Given the description of an element on the screen output the (x, y) to click on. 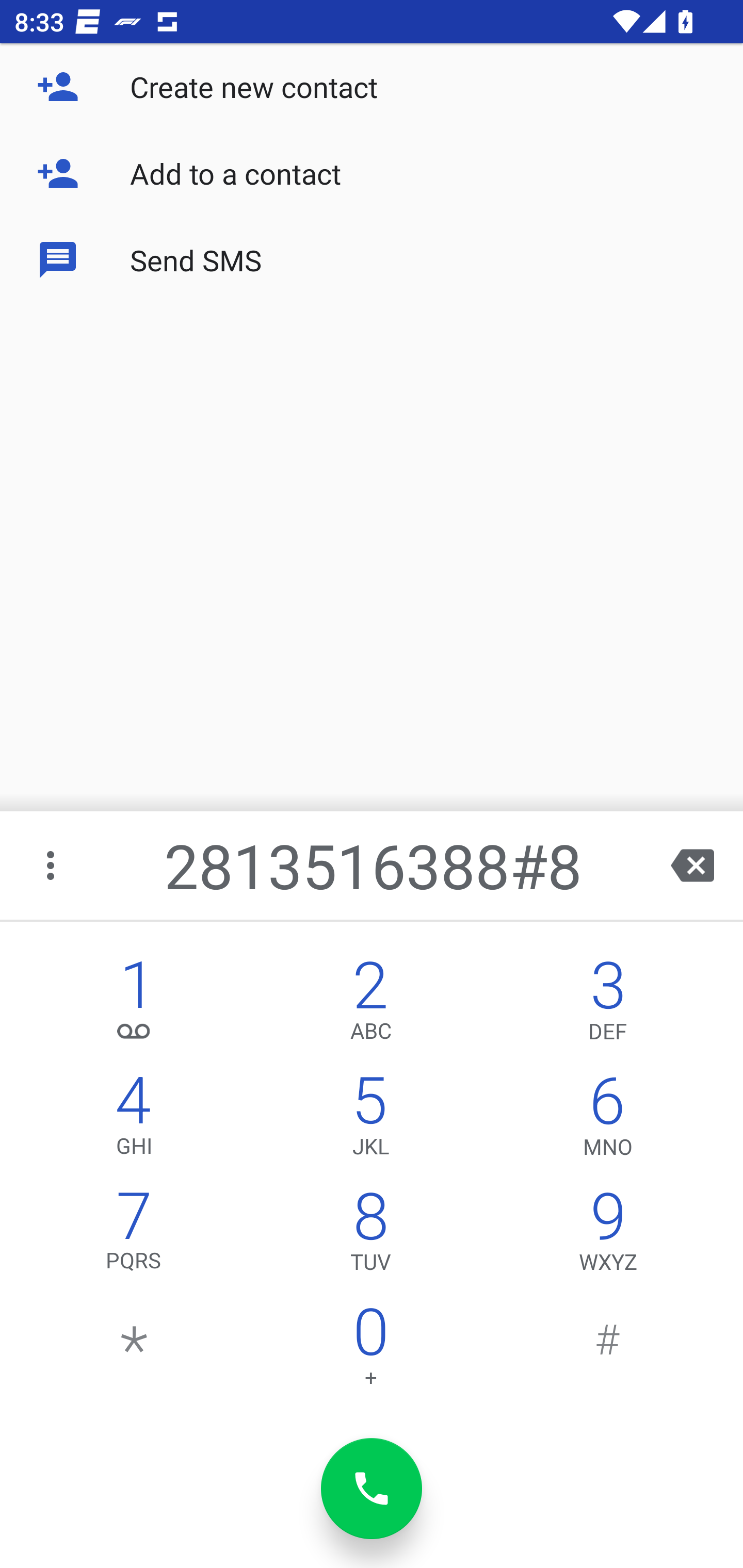
Create new contact (371, 86)
Add to a contact (371, 173)
Send SMS (371, 259)
2813516388#8 (372, 865)
backspace (692, 865)
More options (52, 865)
1, 1 (133, 1005)
2,ABC 2 ABC (370, 1005)
3,DEF 3 DEF (607, 1005)
4,GHI 4 GHI (133, 1120)
5,JKL 5 JKL (370, 1120)
6,MNO 6 MNO (607, 1120)
7,PQRS 7 PQRS (133, 1235)
8,TUV 8 TUV (370, 1235)
9,WXYZ 9 WXYZ (607, 1235)
* (133, 1351)
0 0 + (370, 1351)
# (607, 1351)
dial (371, 1488)
